Given the description of an element on the screen output the (x, y) to click on. 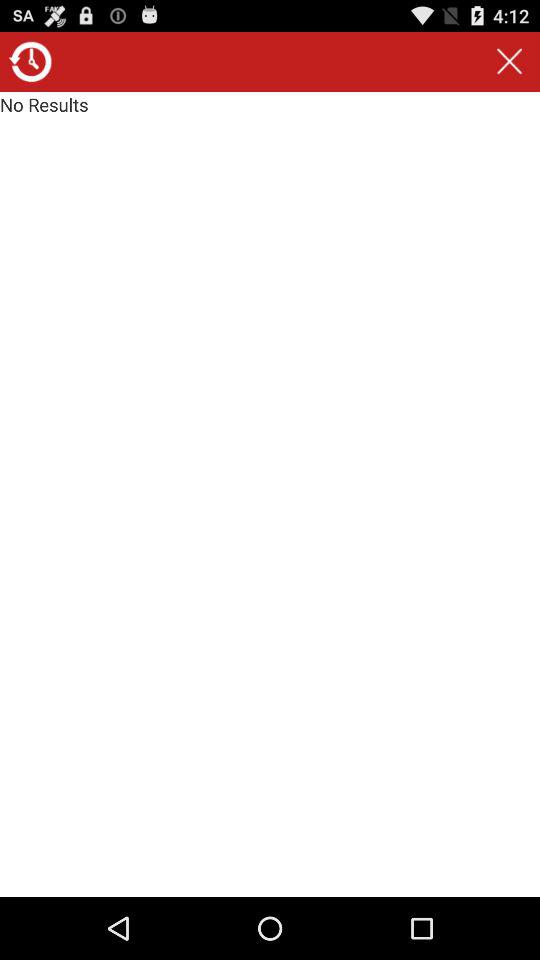
turn on the icon next to the no results item (509, 61)
